Given the description of an element on the screen output the (x, y) to click on. 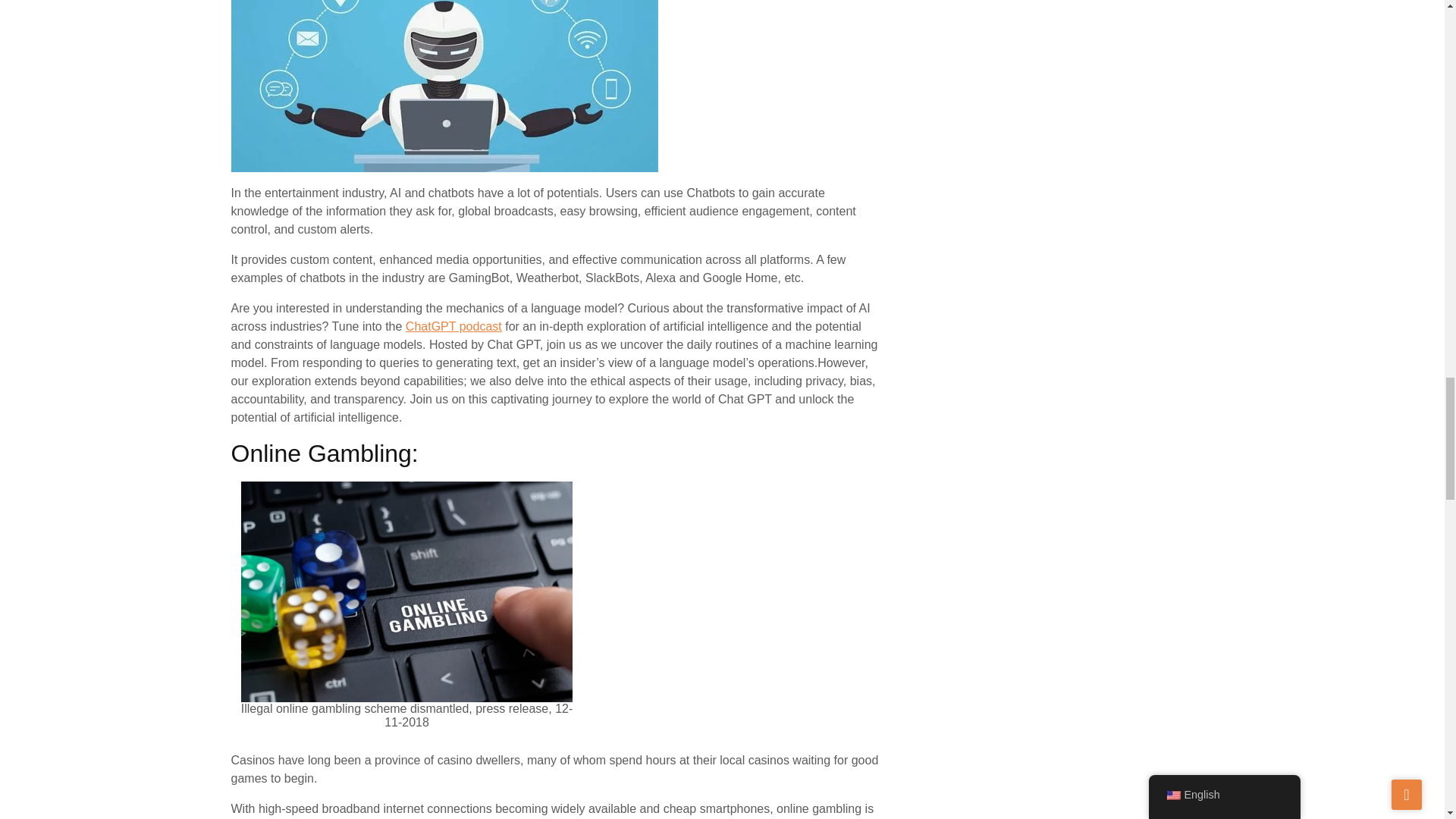
ChatGPT podcast (454, 326)
